Given the description of an element on the screen output the (x, y) to click on. 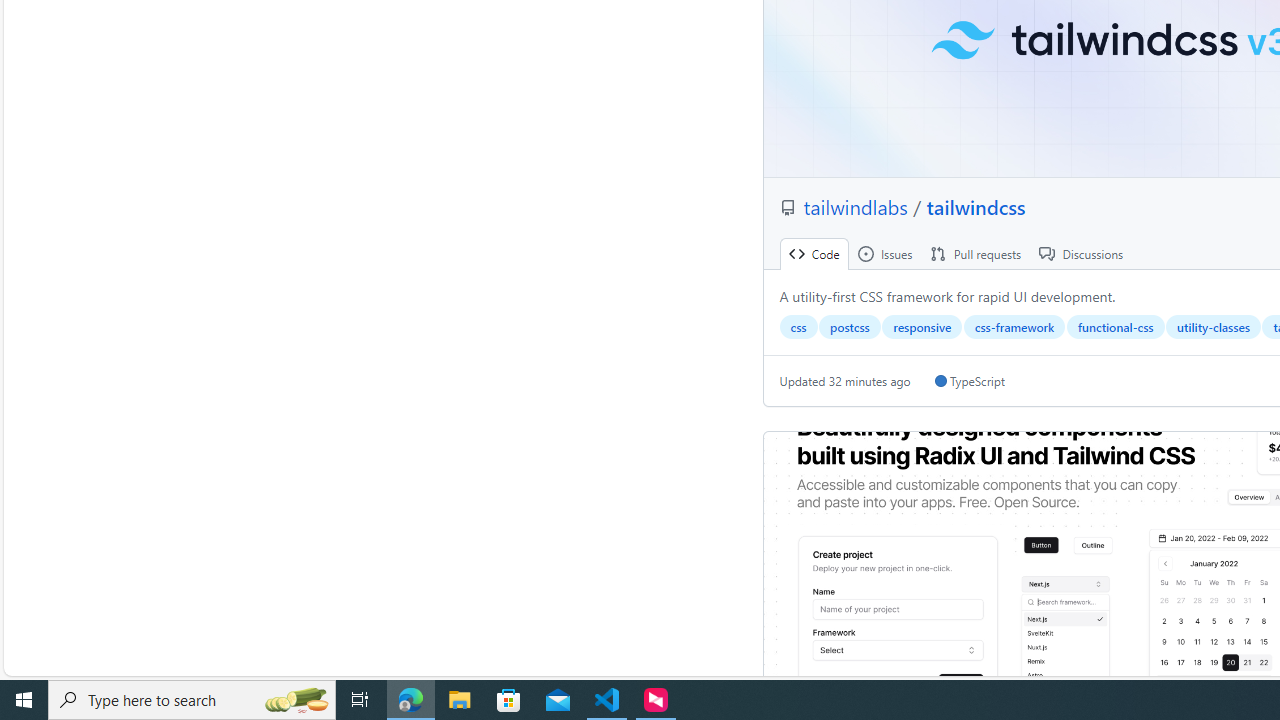
utility-classes (1213, 327)
css-framework (1014, 327)
postcss (849, 327)
